Given the description of an element on the screen output the (x, y) to click on. 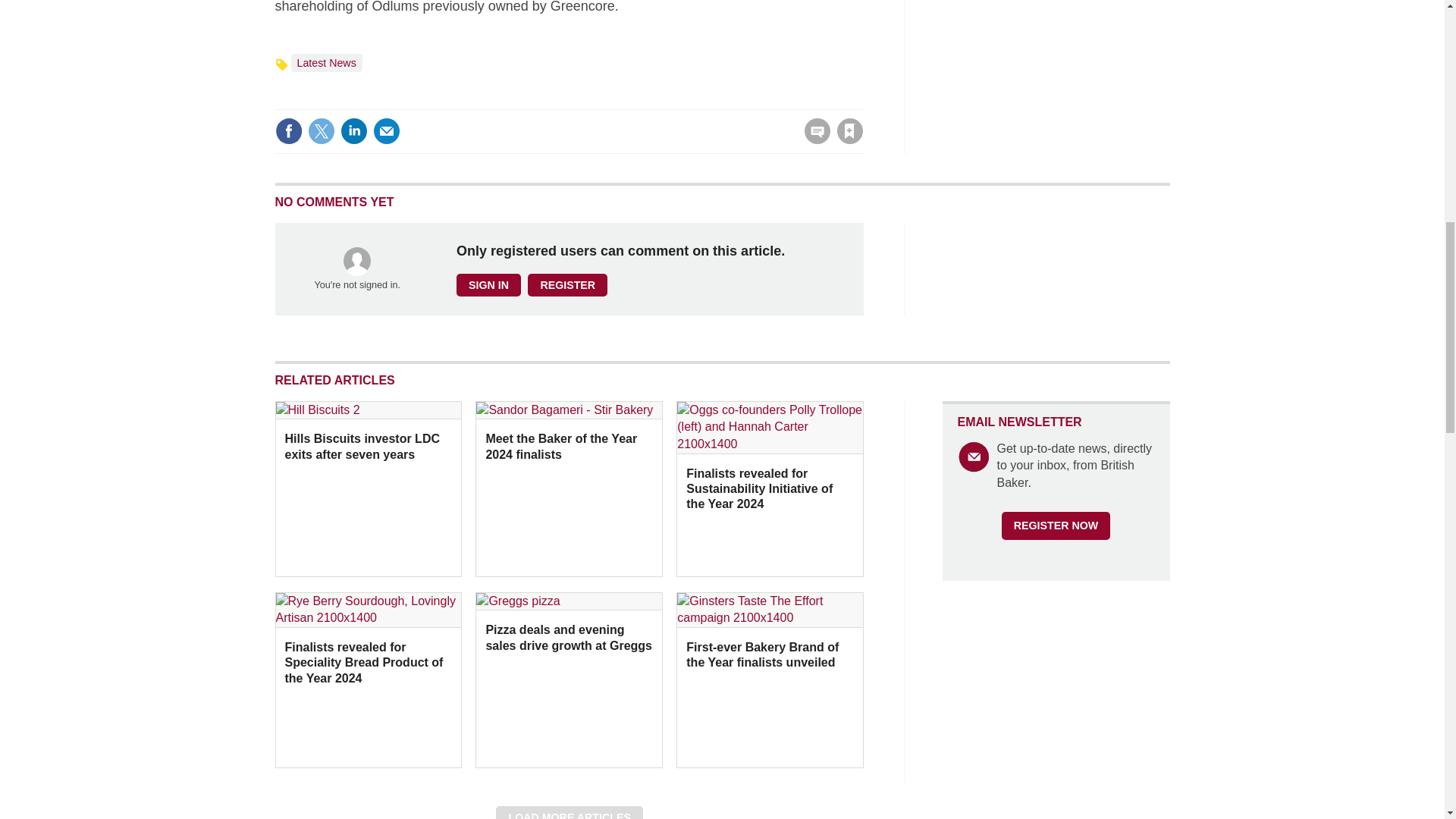
Email this article (386, 130)
No comments (812, 140)
Share this on Facebook (288, 130)
Share this on Linked in (352, 130)
Share this on Twitter (320, 130)
